Given the description of an element on the screen output the (x, y) to click on. 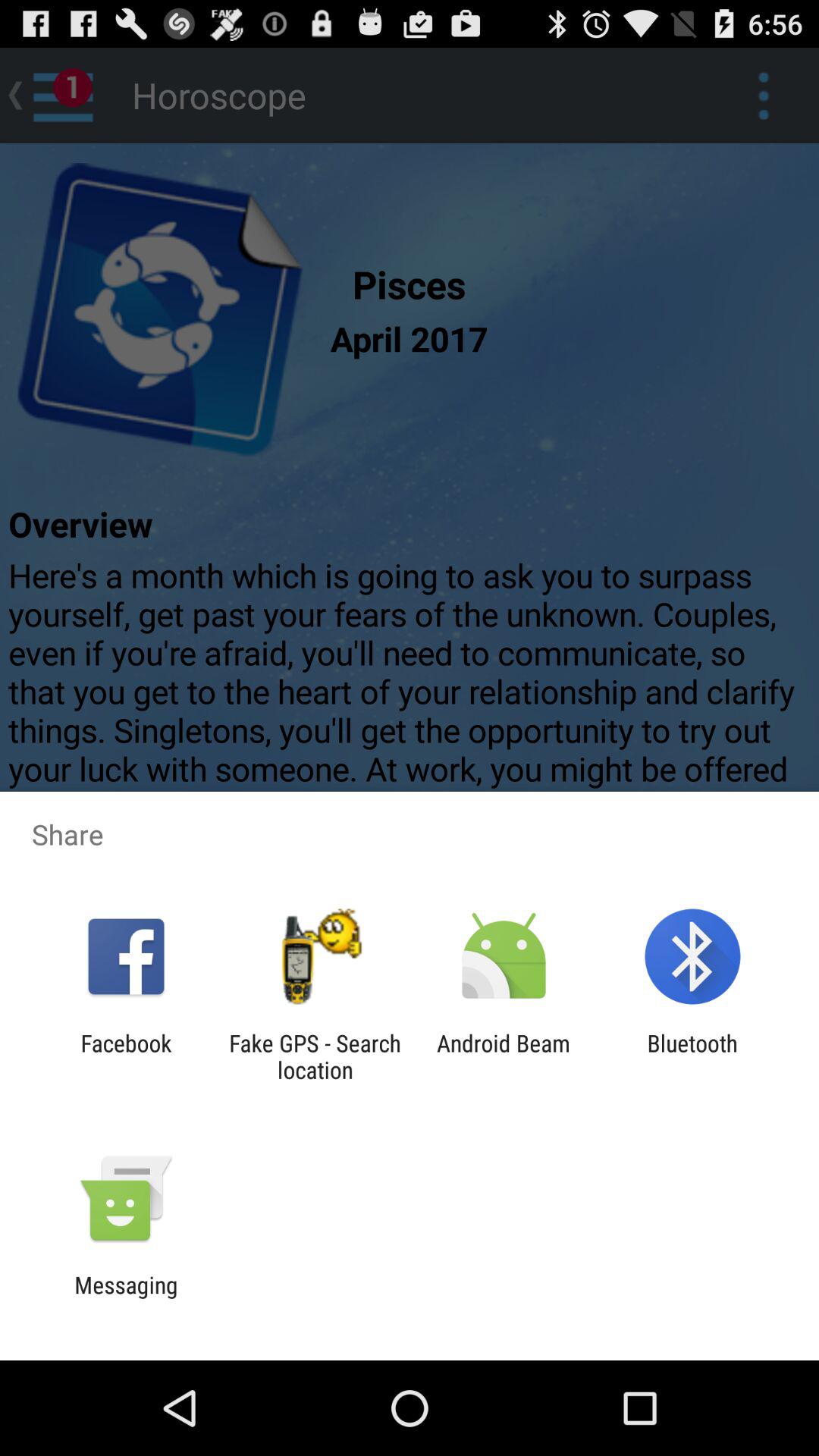
choose bluetooth (692, 1056)
